Given the description of an element on the screen output the (x, y) to click on. 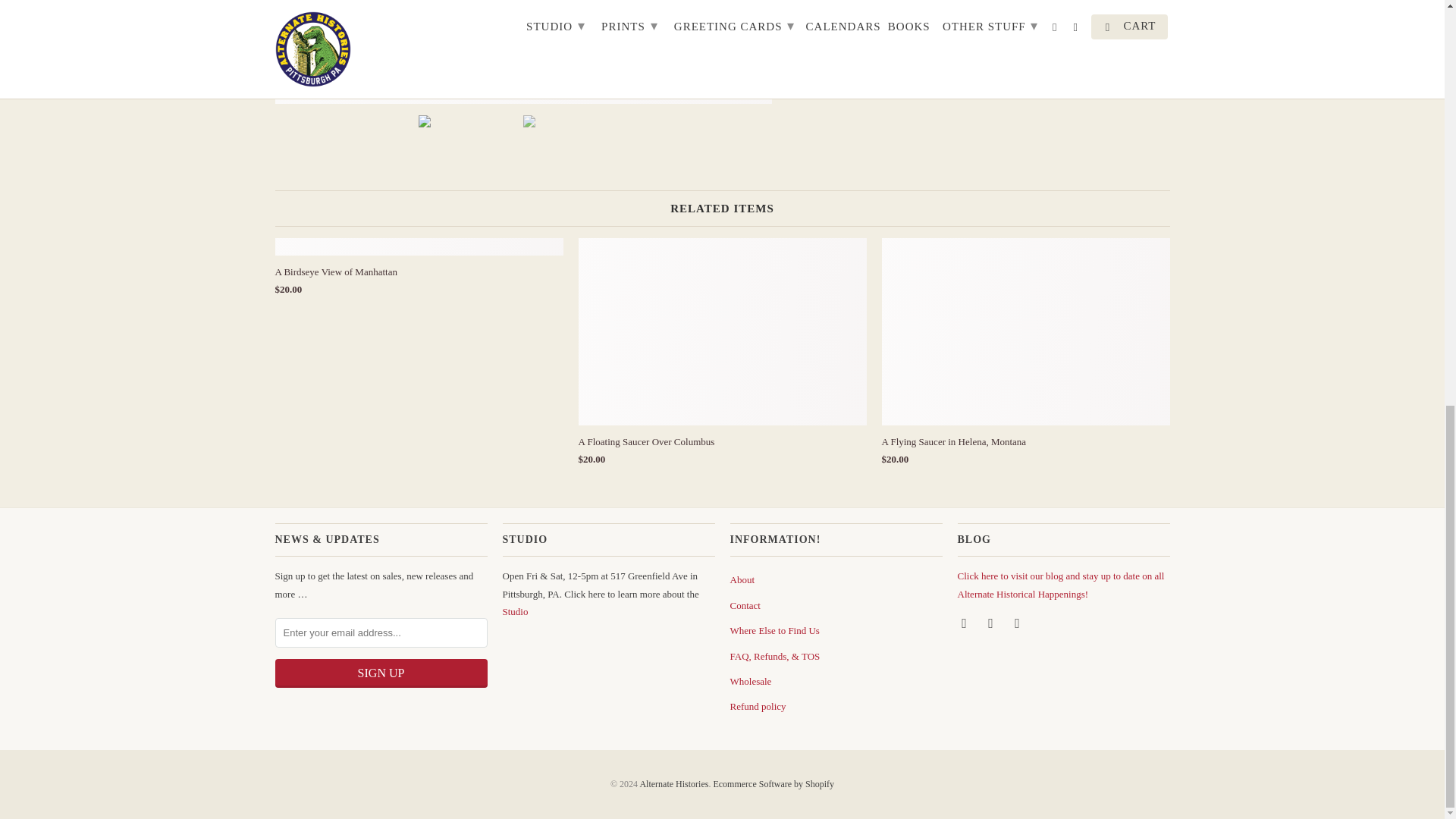
Baltimore's Zombie Safe Areas (137, 52)
Sign Up (380, 673)
Baltimore's Zombie Safe Areas (523, 52)
